Given the description of an element on the screen output the (x, y) to click on. 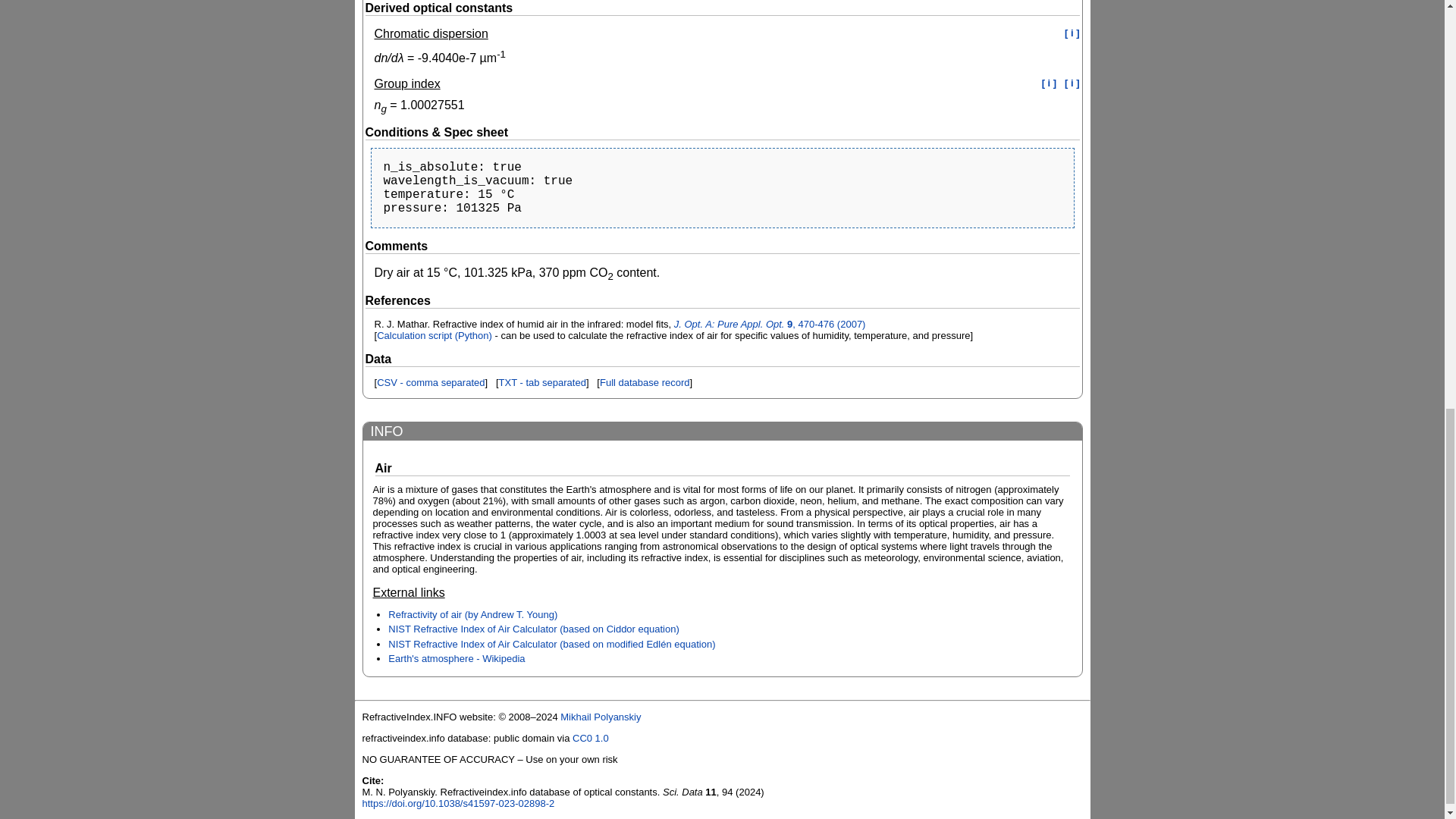
TXT - tab separated (542, 382)
Mikhail Polyanskiy (600, 716)
Full database record (644, 382)
CC0 1.0 (590, 737)
Earth's atmosphere - Wikipedia (456, 658)
CSV - comma separated (430, 382)
